Given the description of an element on the screen output the (x, y) to click on. 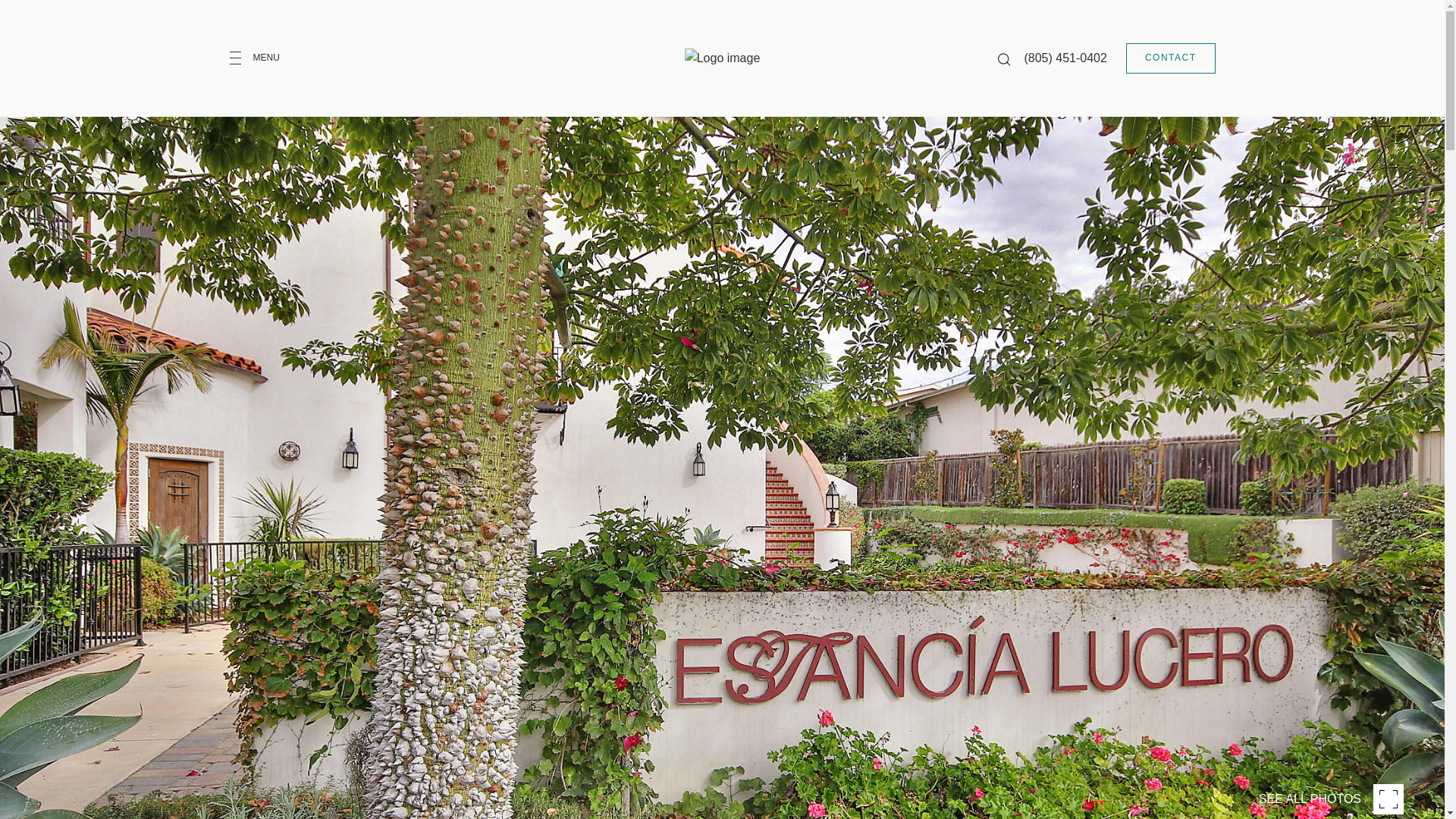
CONTACT (1170, 58)
MENU (265, 57)
